Given the description of an element on the screen output the (x, y) to click on. 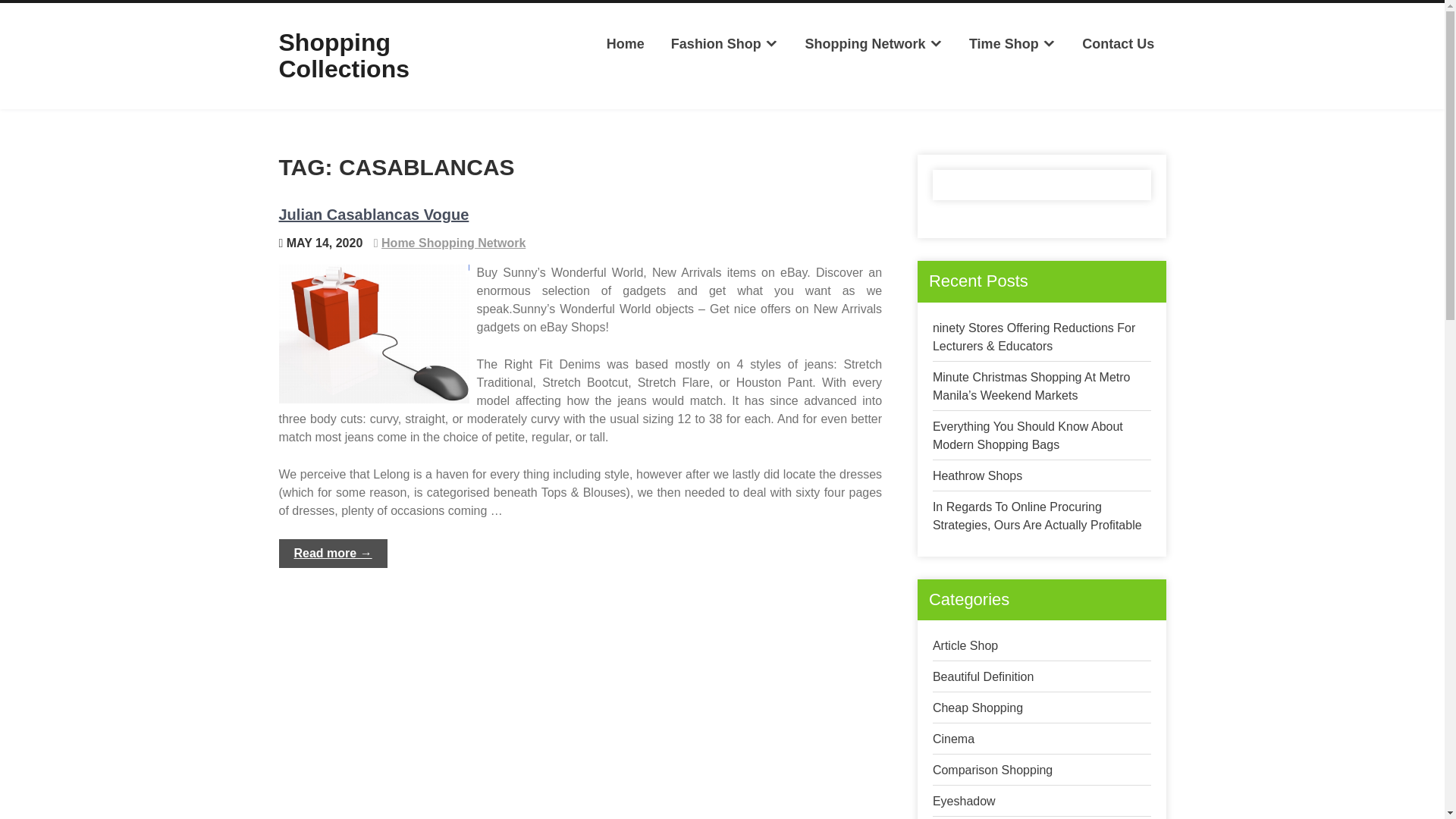
Home (625, 44)
Julian Casablancas Vogue (373, 214)
Everything You Should Know About Modern Shopping Bags (1027, 435)
Time Shop (1012, 44)
Shopping Collections (344, 55)
Beautiful Definition (983, 676)
Fashion Shop (724, 44)
Eyeshadow (964, 800)
Article Shop (965, 645)
Home Shopping Network (453, 242)
Comparison Shopping (992, 769)
Cheap Shopping (978, 707)
Contact Us (1118, 44)
Cinema (953, 738)
